Given the description of an element on the screen output the (x, y) to click on. 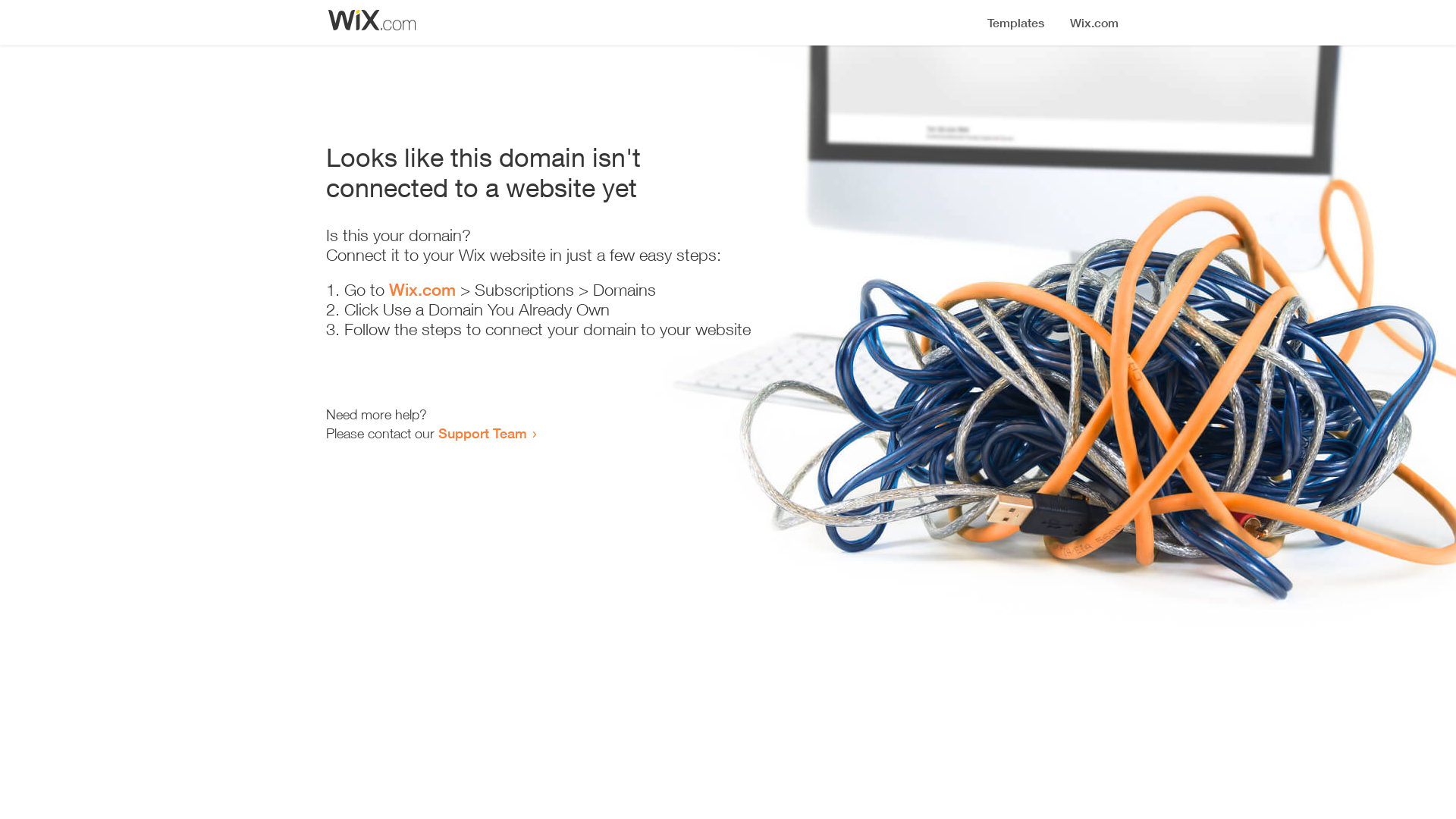
Support Team Element type: text (482, 432)
Wix.com Element type: text (422, 289)
